Given the description of an element on the screen output the (x, y) to click on. 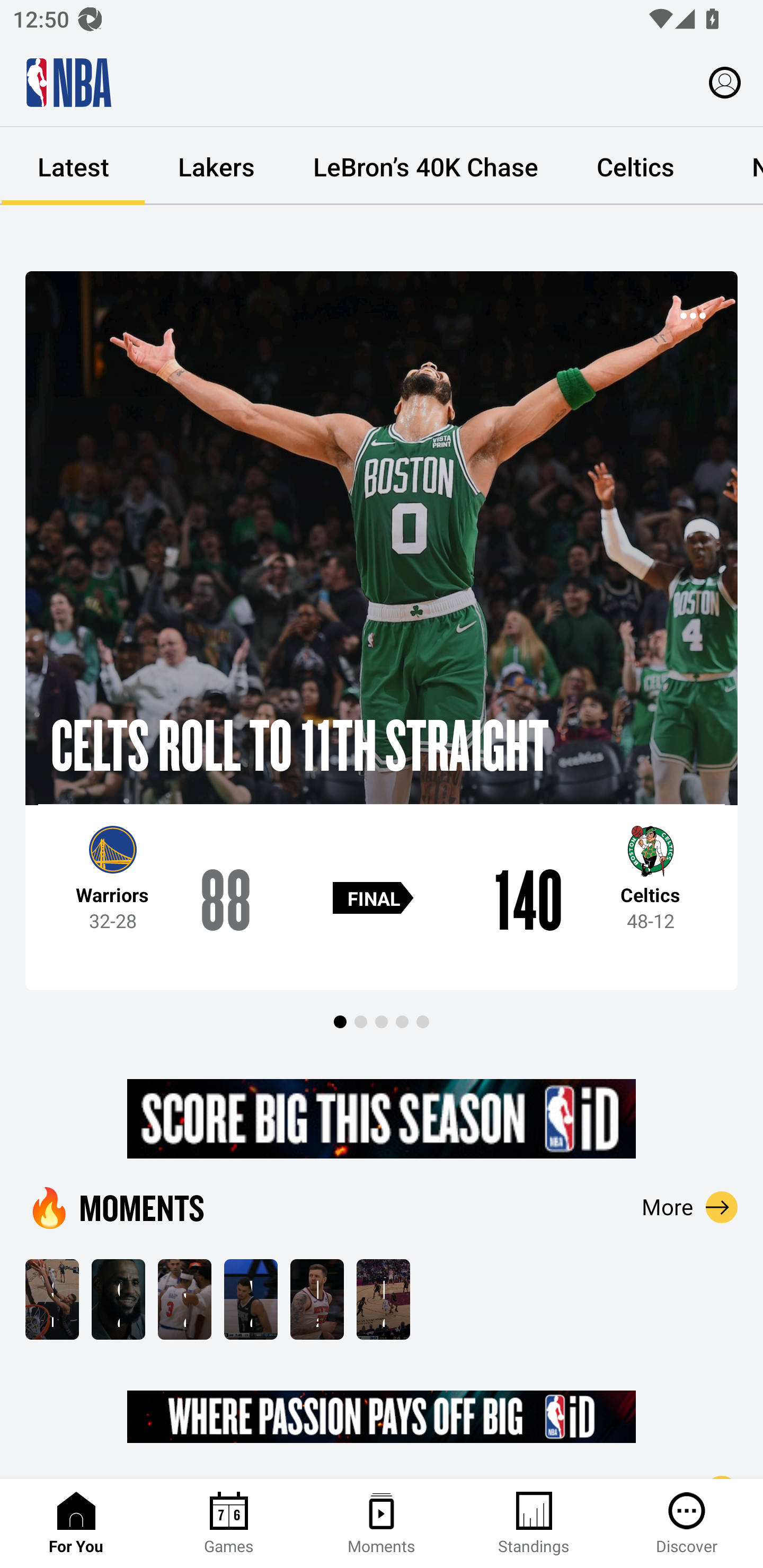
Profile (724, 81)
Lakers (215, 166)
LeBron’s 40K Chase (425, 166)
Celtics (634, 166)
More (689, 1207)
Sunday's Top Plays In 30 Seconds ⏱ (51, 1299)
Hartenstein Drops The Hammer 🔨 (317, 1299)
Games (228, 1523)
Moments (381, 1523)
Standings (533, 1523)
Discover (686, 1523)
